Given the description of an element on the screen output the (x, y) to click on. 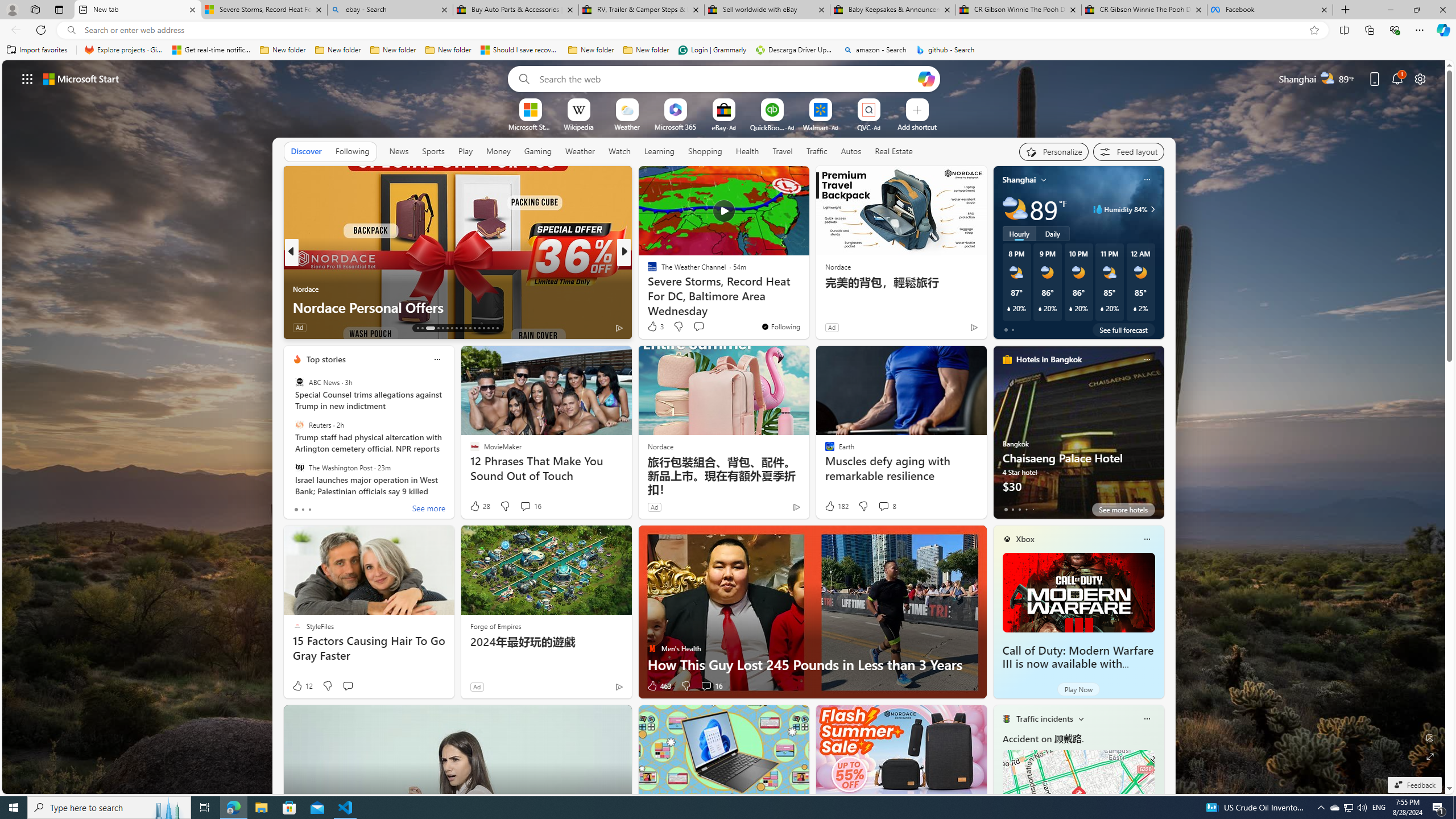
Shopping (705, 151)
Like (648, 327)
View comments 16 Comment (710, 685)
Special Personal Offer (807, 307)
Hide this story (774, 179)
AutomationID: tab-21 (460, 328)
